Given the description of an element on the screen output the (x, y) to click on. 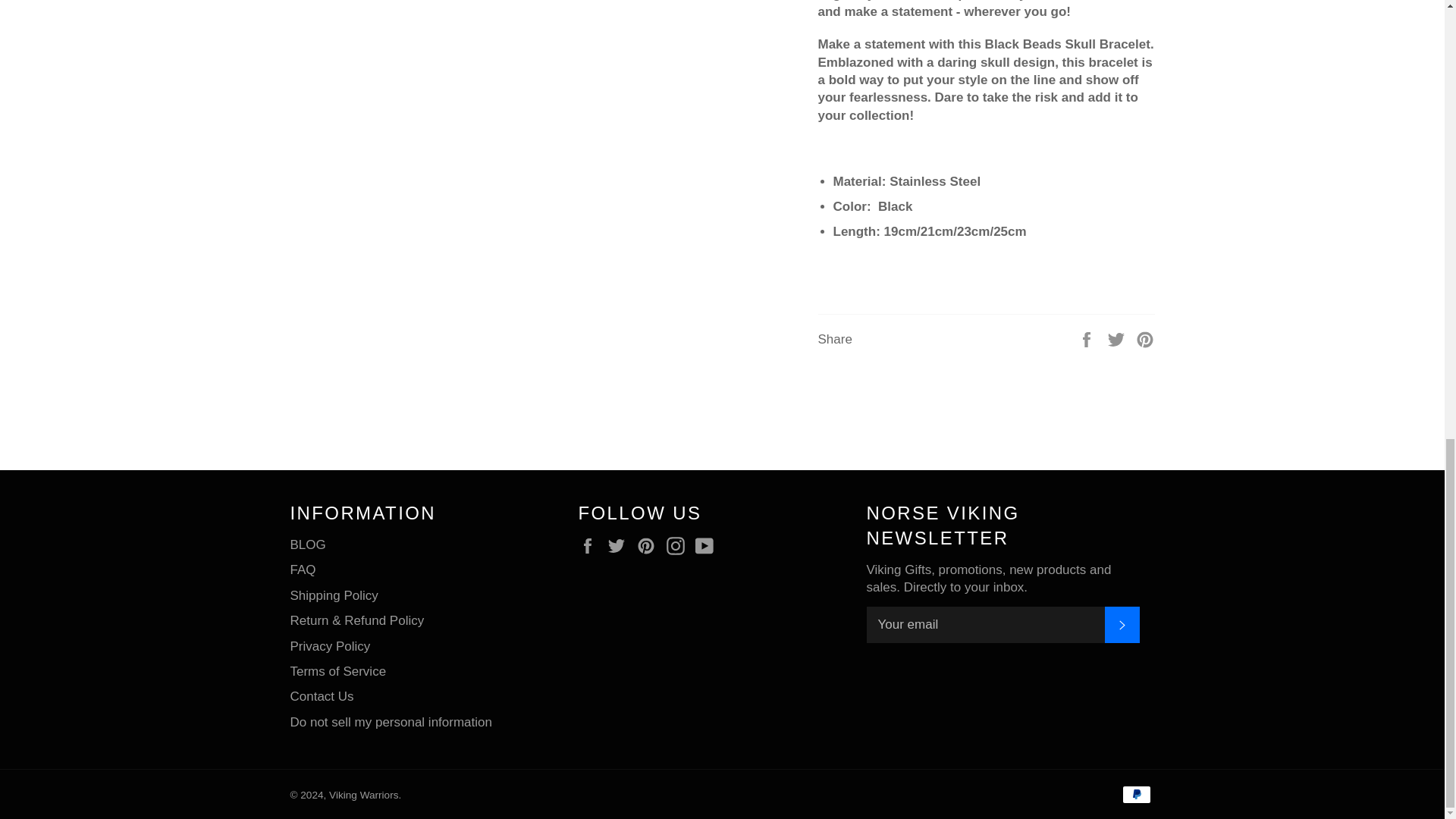
Viking Warriors on Twitter (620, 545)
Viking Warriors on Pinterest (649, 545)
Viking Warriors on YouTube (707, 545)
Share on Facebook (1088, 338)
Viking Warriors on Facebook (591, 545)
Pin on Pinterest (1144, 338)
Viking Warriors on Instagram (679, 545)
Tweet on Twitter (1117, 338)
